Given the description of an element on the screen output the (x, y) to click on. 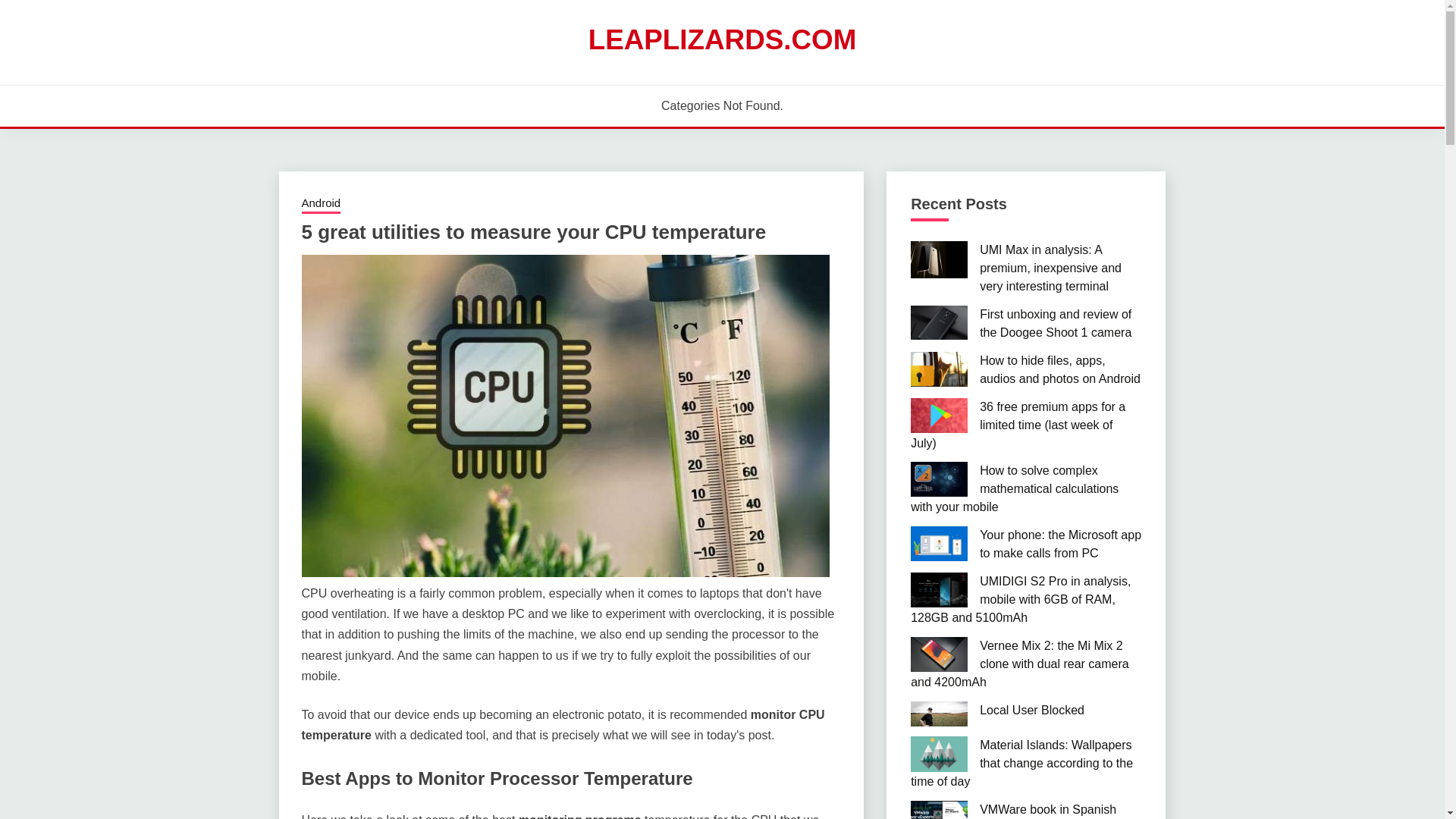
Android (320, 204)
Your phone: the Microsoft app to make calls from PC (1060, 543)
LEAPLIZARDS.COM (722, 39)
Local User Blocked (1031, 709)
How to hide files, apps, audios and photos on Android (1059, 368)
First unboxing and review of the Doogee Shoot 1 camera (1055, 323)
